Given the description of an element on the screen output the (x, y) to click on. 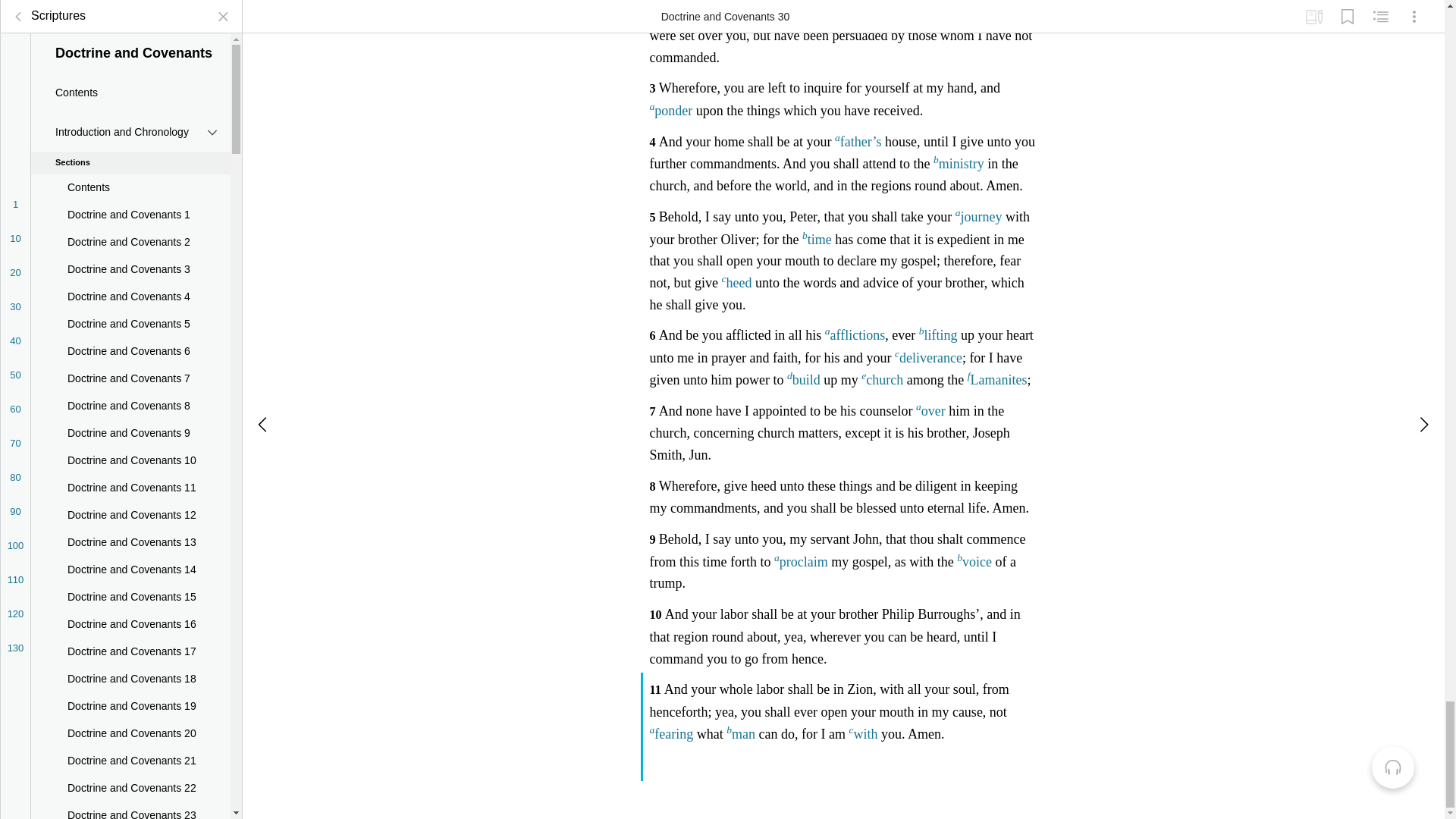
Doctrine and Covenants 21 (130, 329)
Doctrine and Covenants 20 (130, 302)
80 (15, 46)
Doctrine and Covenants 12 (130, 84)
Doctrine and Covenants 13 (130, 112)
120 (15, 182)
90 (15, 80)
Doctrine and Covenants 11 (130, 57)
100 (15, 114)
Doctrine and Covenants 14 (130, 139)
